Given the description of an element on the screen output the (x, y) to click on. 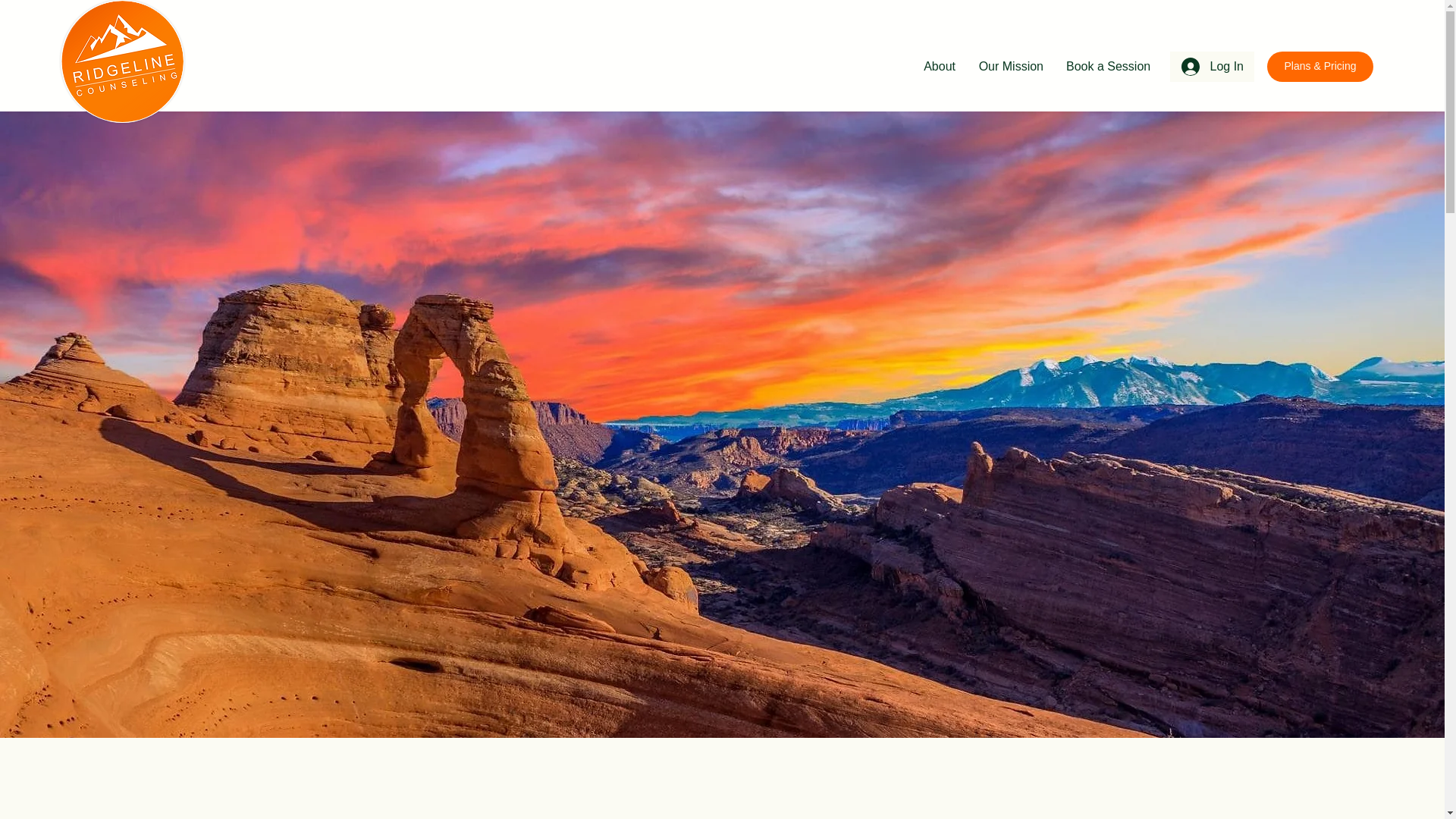
Log In (1211, 66)
About (938, 66)
Our Mission (1010, 66)
Book a Session (1107, 66)
